Given the description of an element on the screen output the (x, y) to click on. 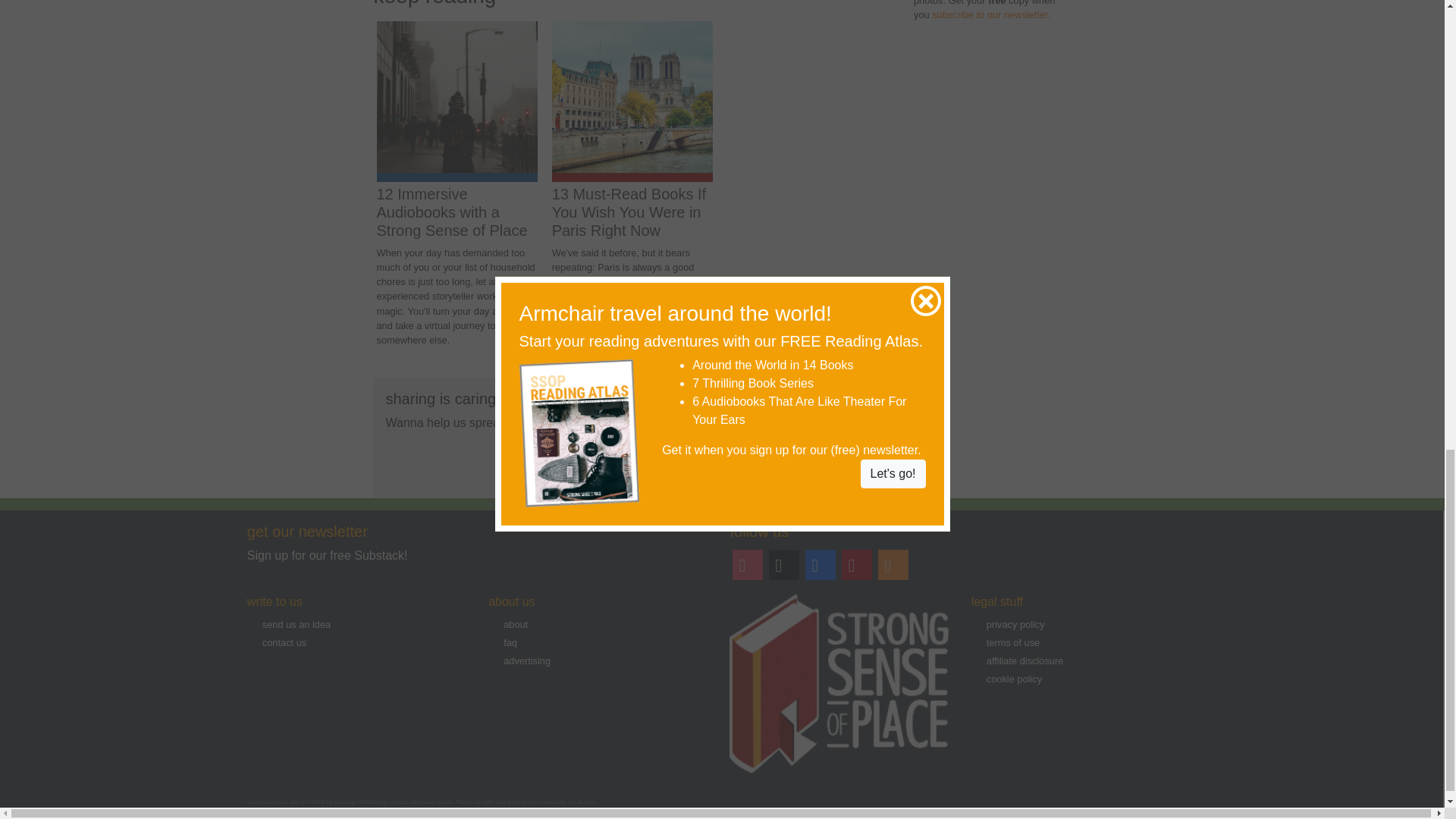
send us an idea (296, 624)
Pinterest (856, 565)
contact us (283, 642)
Instagram (747, 565)
More Options (705, 462)
12 Immersive Audiobooks with a Strong Sense of Place (451, 212)
Pinterest (856, 564)
about (515, 624)
Facebook (820, 565)
subscribe to our newsletter. (990, 14)
